Given the description of an element on the screen output the (x, y) to click on. 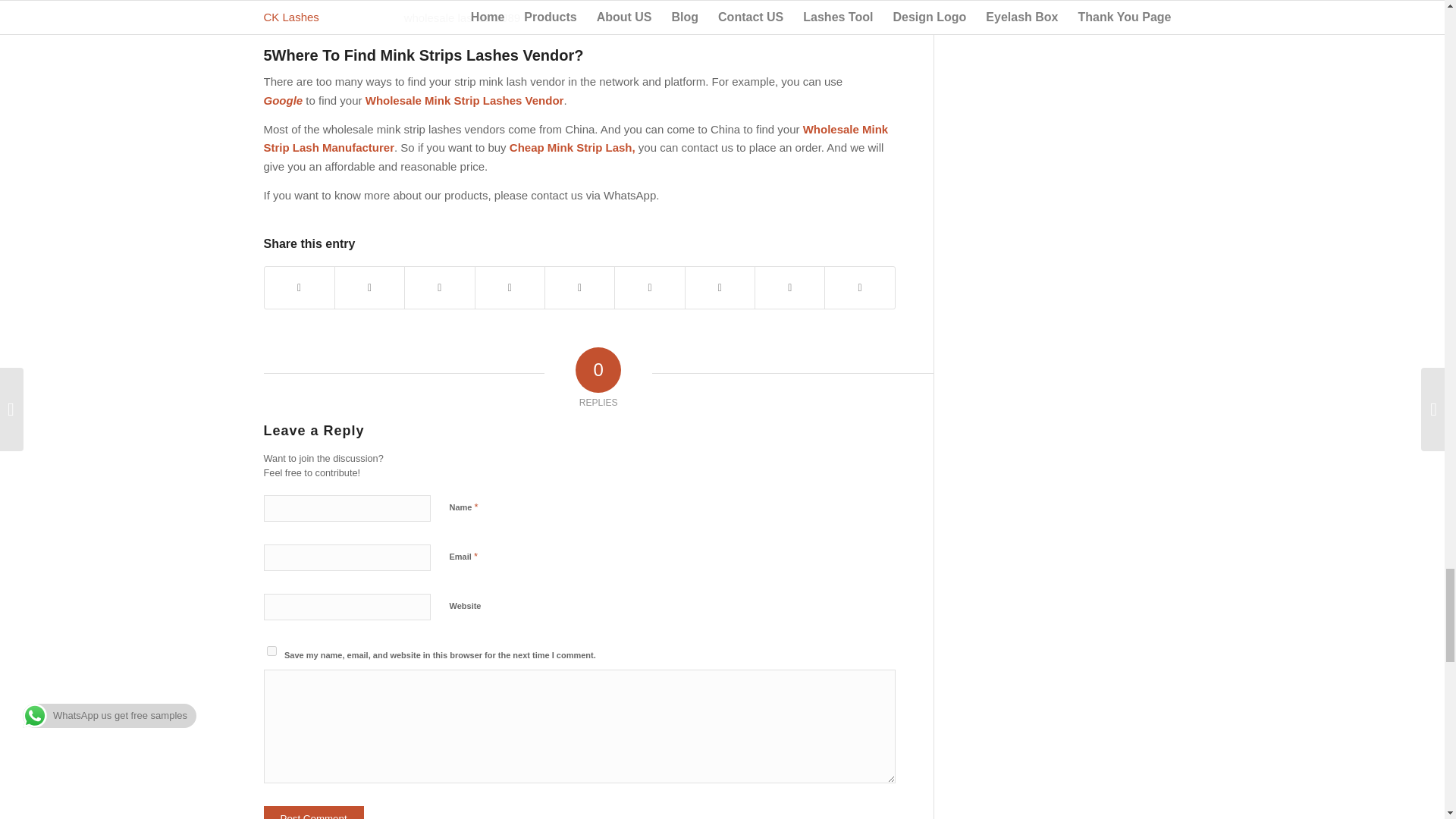
yes (271, 651)
Post Comment (313, 812)
